Given the description of an element on the screen output the (x, y) to click on. 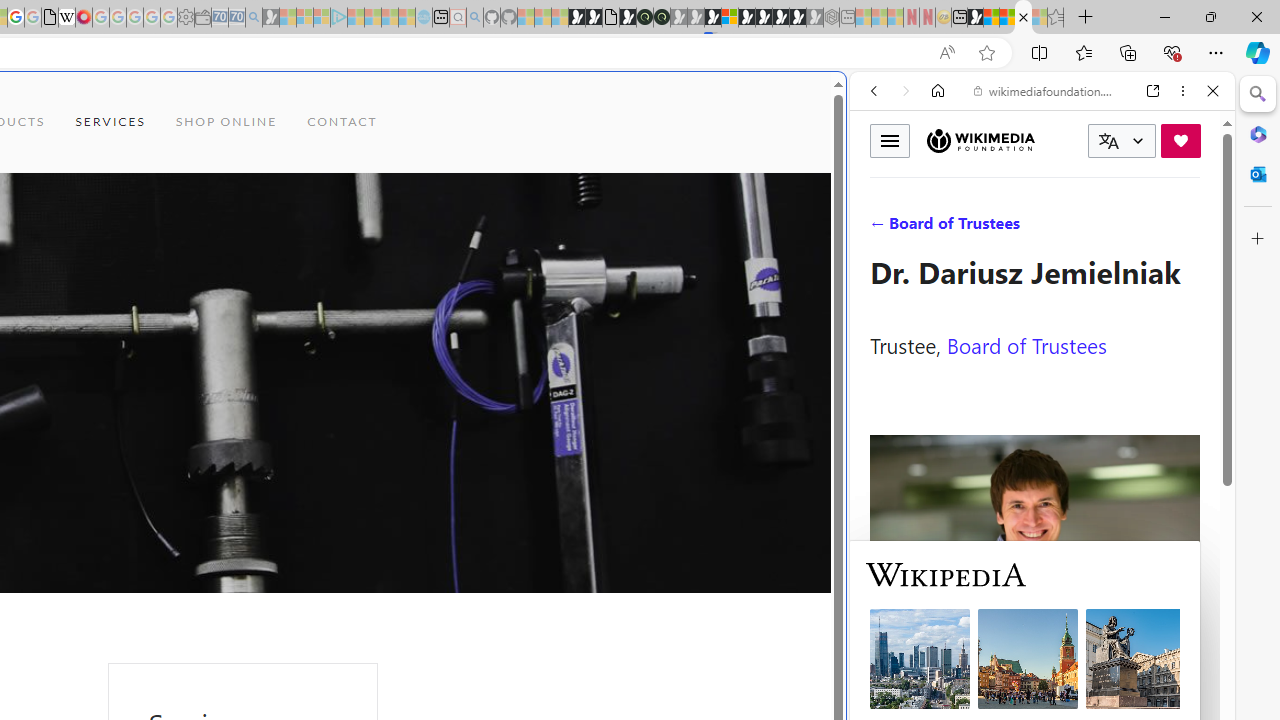
Class: i icon icon-translate language-switcher__icon (1108, 141)
Earth has six continents not seven, radical new study claims (1007, 17)
Wallet - Sleeping (202, 17)
Wikimedia Foundation (980, 141)
SEARCH TOOLS (1093, 228)
Close split screen (844, 102)
github - Search - Sleeping (474, 17)
Wikimedia Foundation (980, 140)
SHOP ONLINE (226, 122)
